Given the description of an element on the screen output the (x, y) to click on. 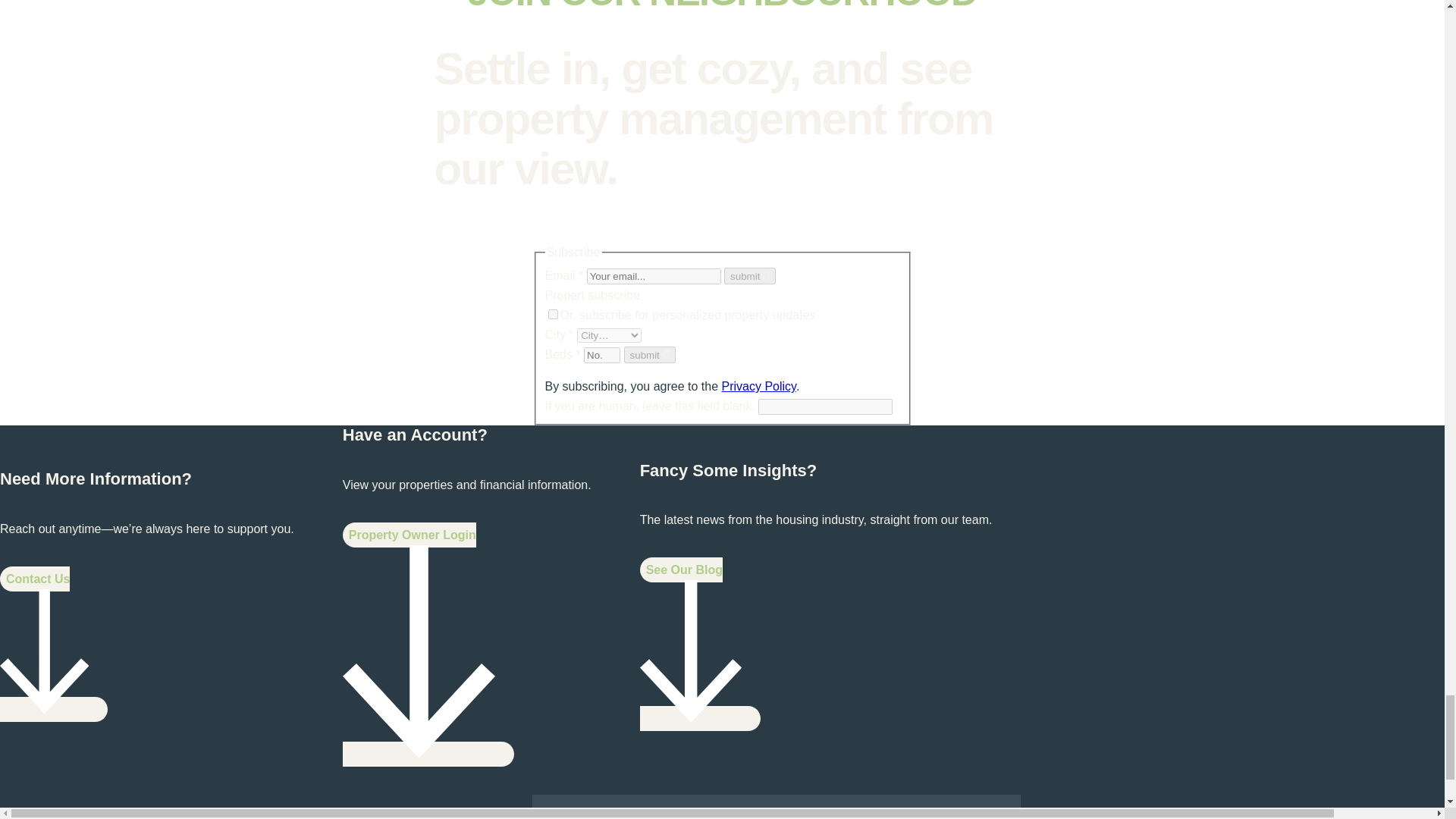
Or, subscribe for personalized property updates (552, 314)
Privacy Policy (759, 386)
submit (649, 354)
submit (749, 275)
